Given the description of an element on the screen output the (x, y) to click on. 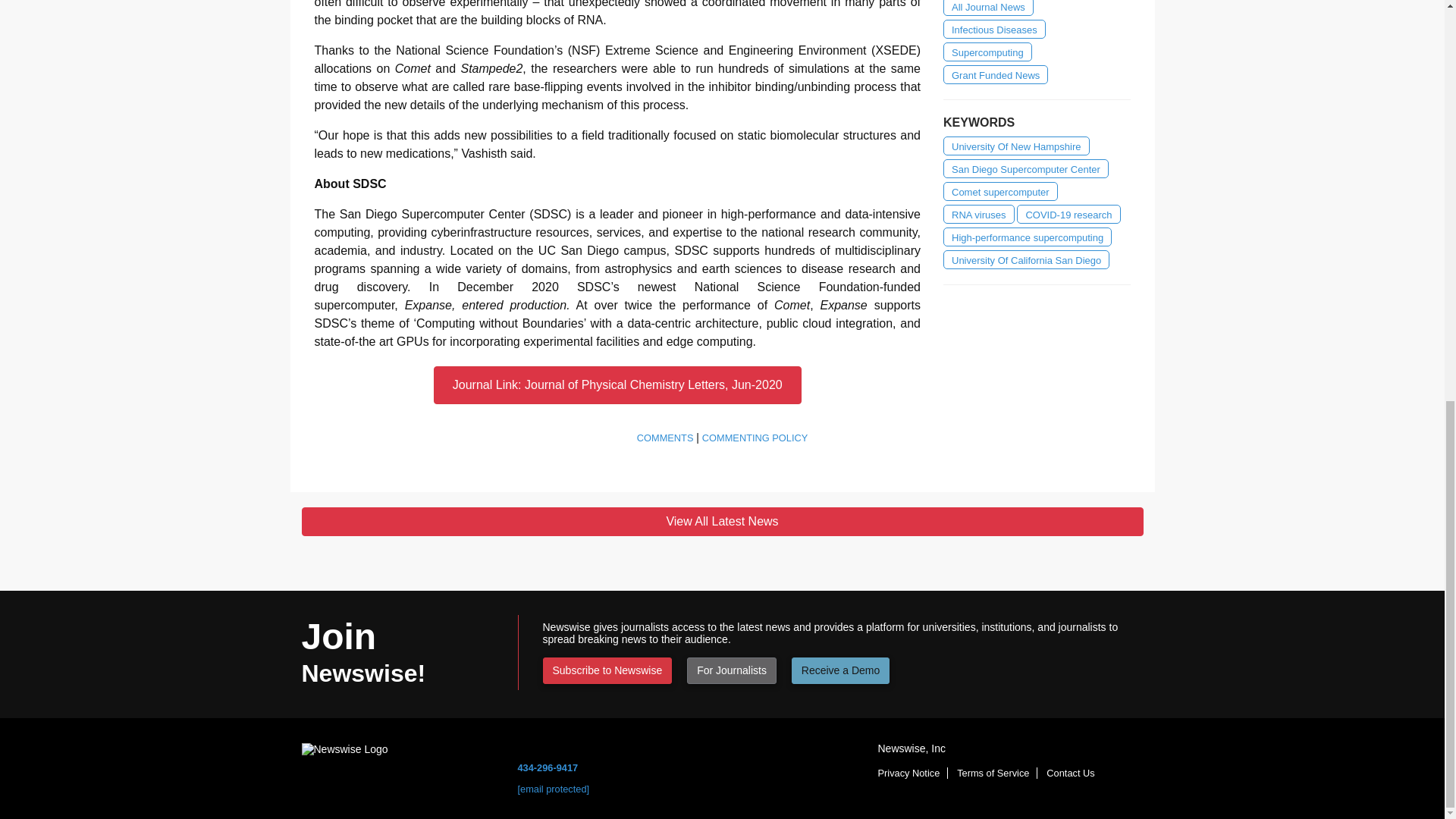
Show all articles in this channel (994, 28)
Show all articles in this channel (988, 7)
